Given the description of an element on the screen output the (x, y) to click on. 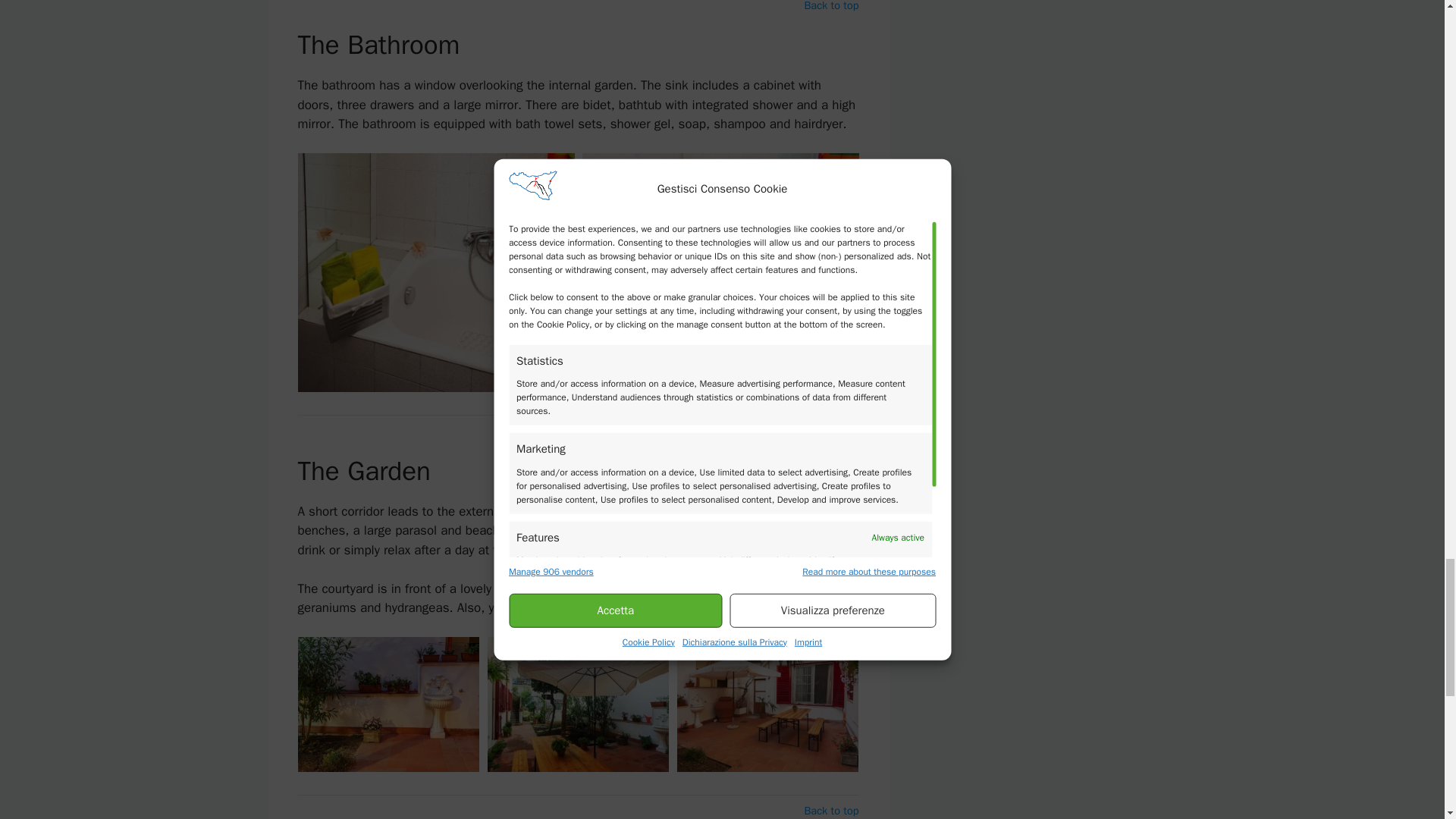
Back to top (831, 431)
Back to top (831, 811)
Back to top (831, 7)
